Given the description of an element on the screen output the (x, y) to click on. 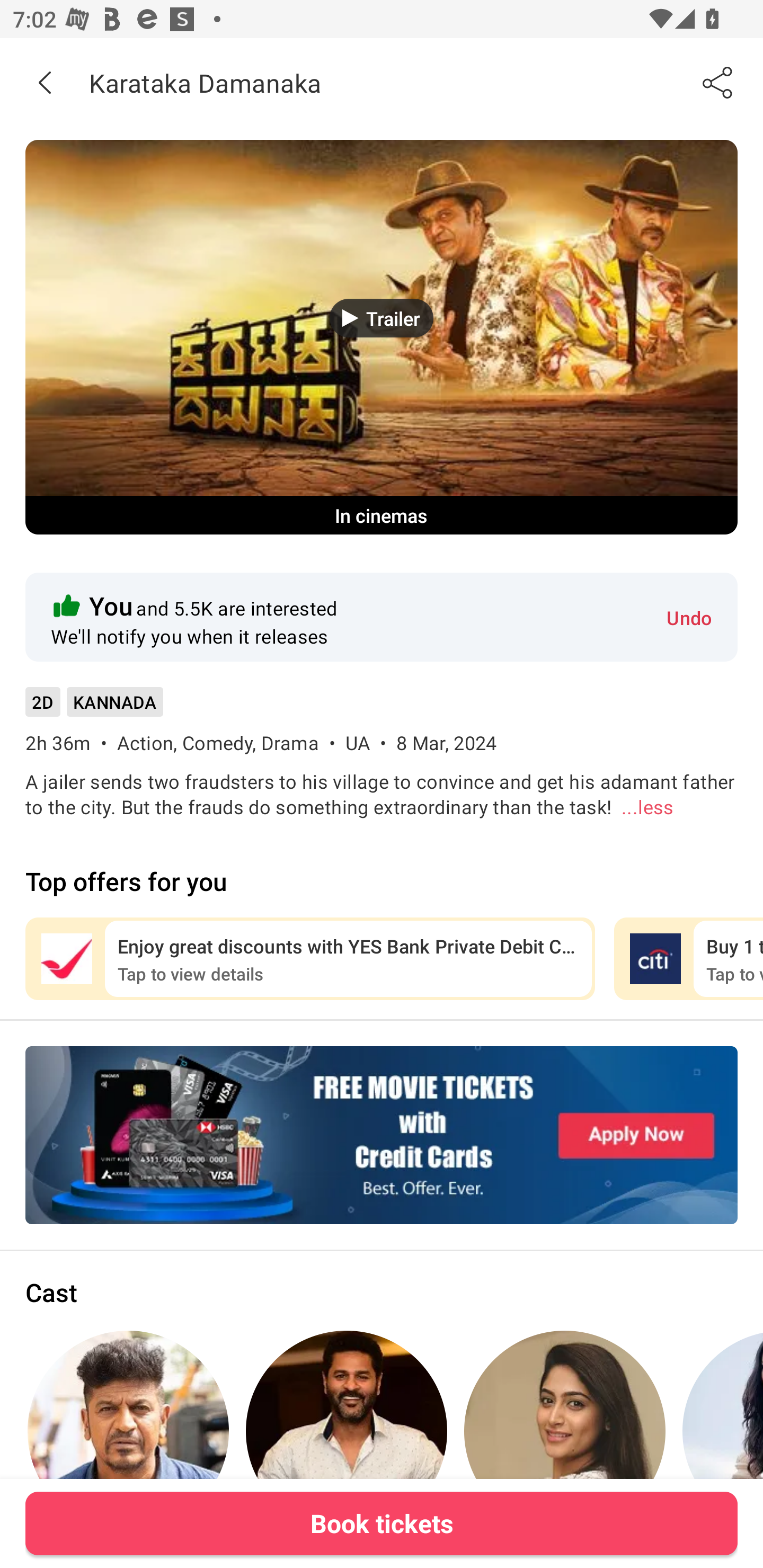
Back (44, 82)
Share (718, 82)
Movie Banner Trailer In cinemas (381, 336)
Trailer (381, 318)
Undo (688, 616)
2D KANNADA (94, 707)
Book tickets (381, 1523)
